Given the description of an element on the screen output the (x, y) to click on. 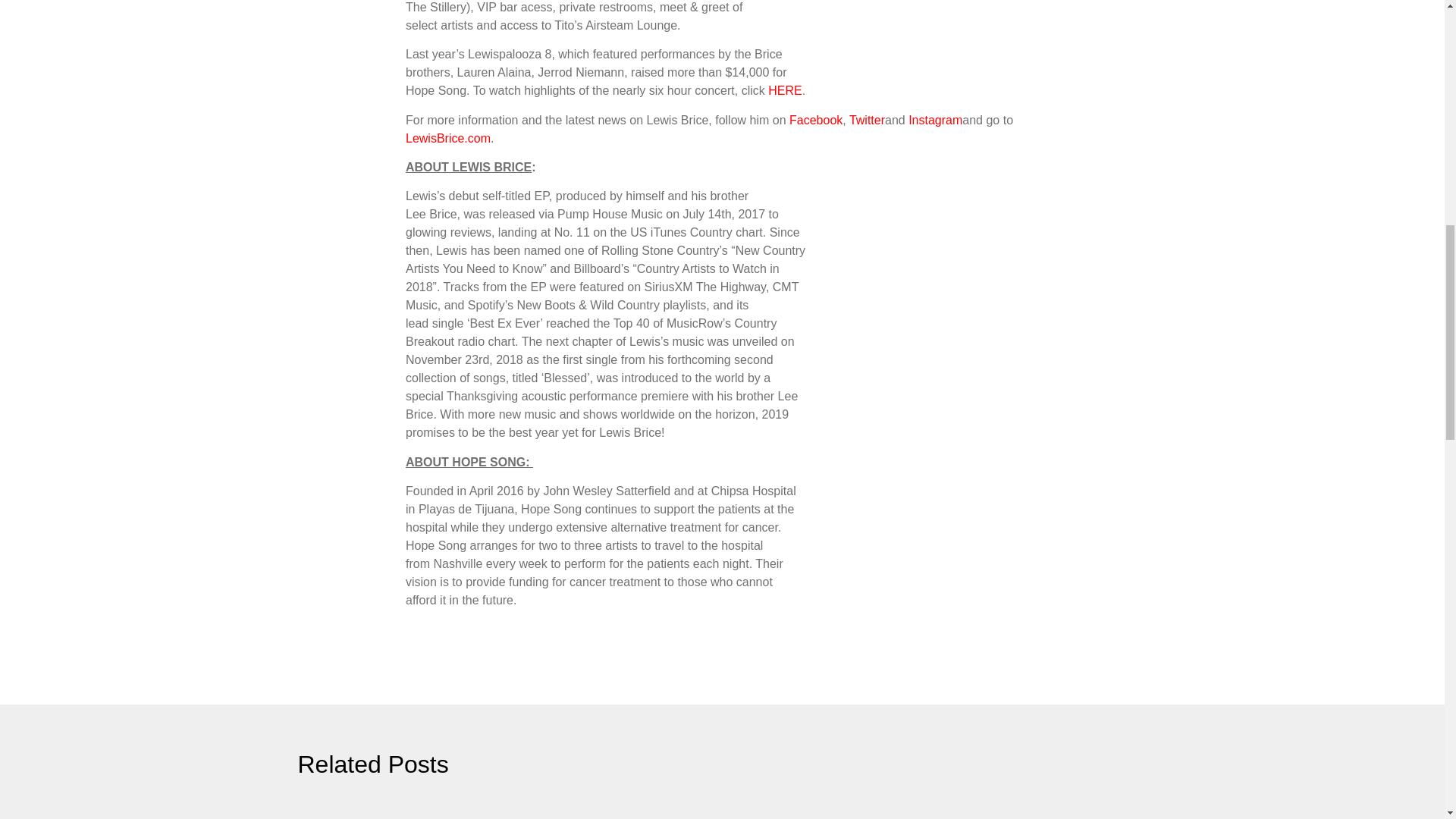
Instagram (935, 119)
Facebook (816, 119)
HERE (785, 90)
LewisBrice.com (448, 137)
Twitter (866, 119)
